Given the description of an element on the screen output the (x, y) to click on. 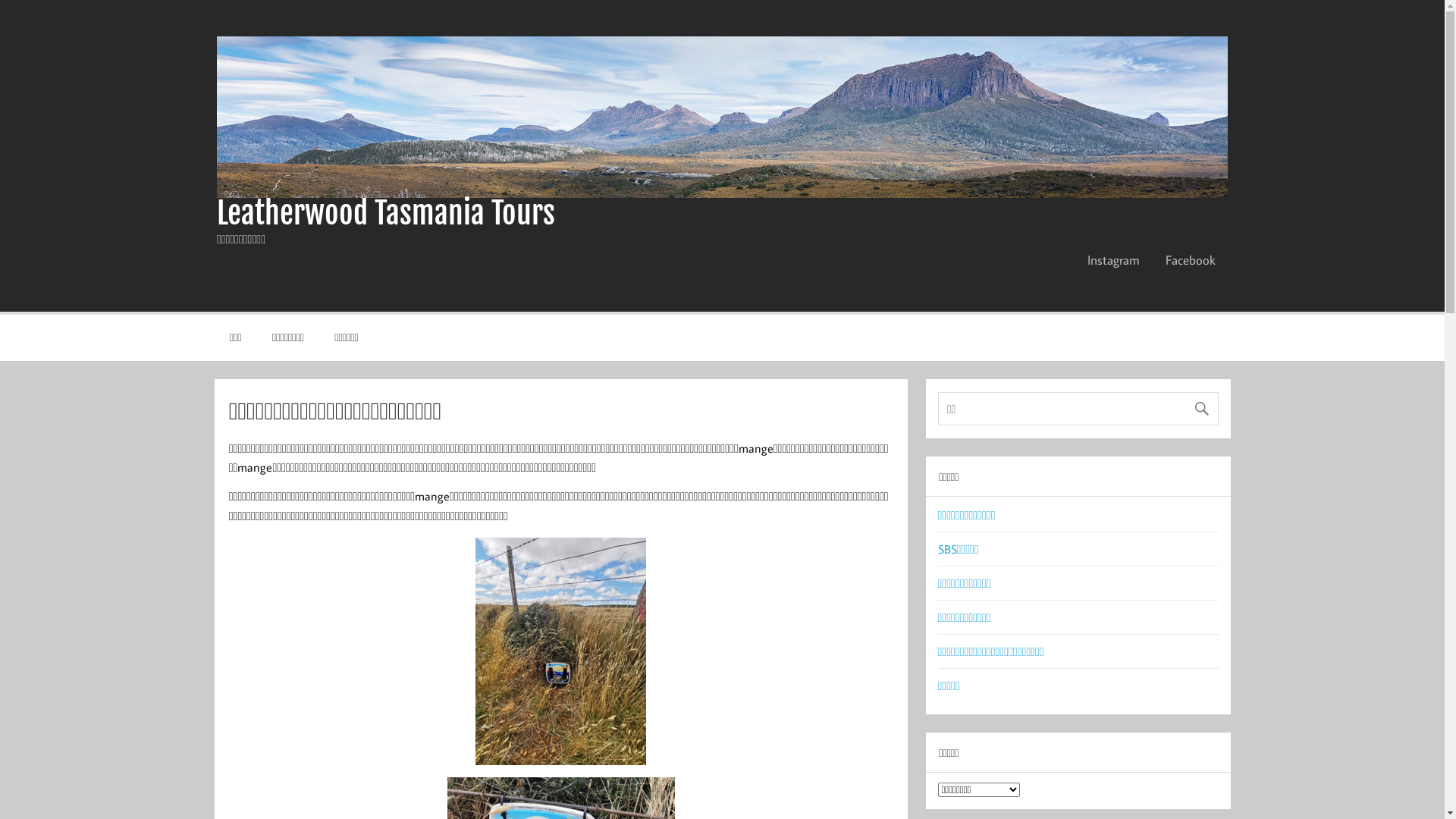
Facebook Element type: text (1190, 259)
Instagram Element type: text (1113, 259)
Leatherwood Tasmania Tours Element type: text (385, 213)
